Given the description of an element on the screen output the (x, y) to click on. 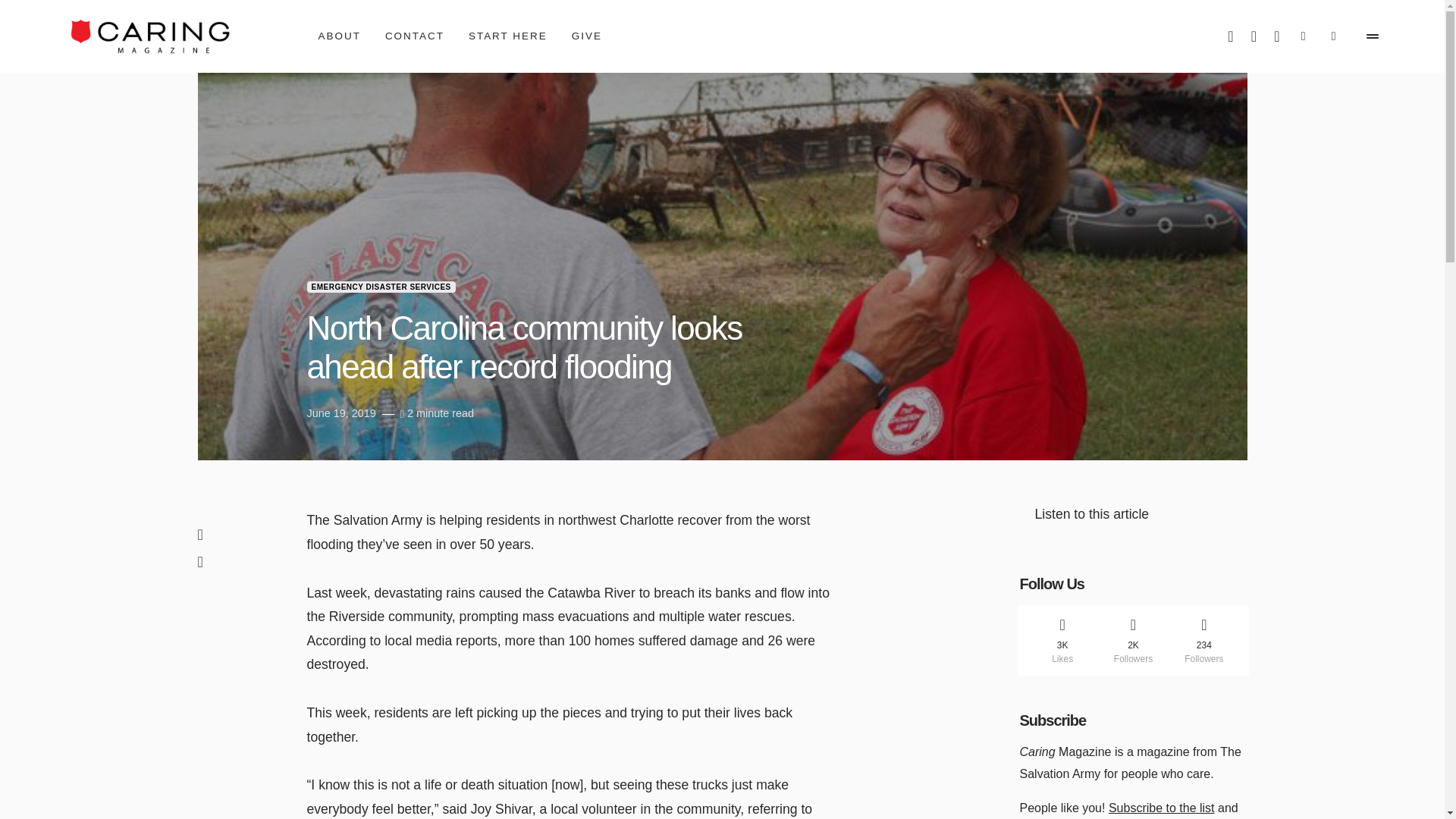
START HERE (507, 36)
